Given the description of an element on the screen output the (x, y) to click on. 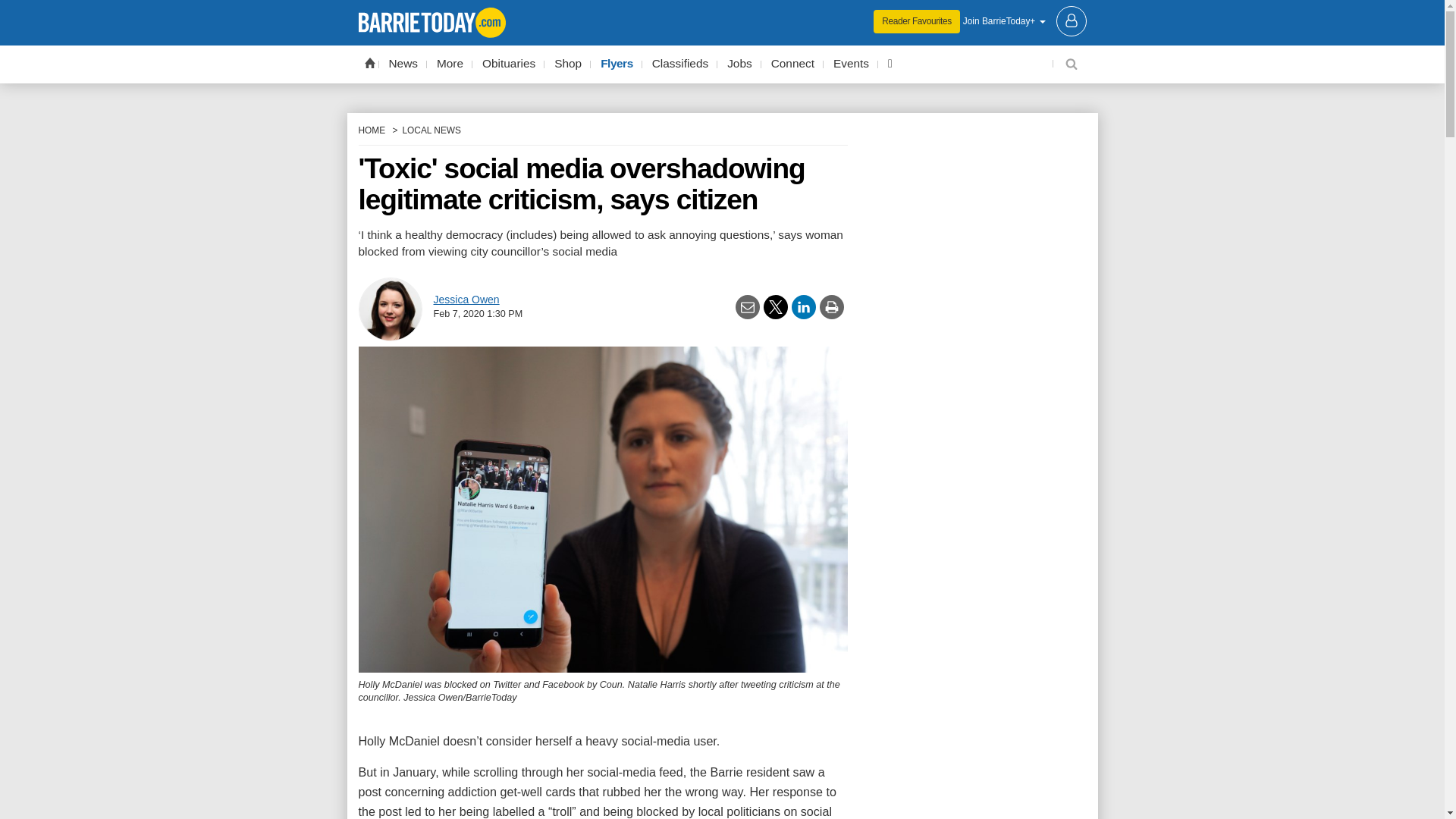
News (403, 64)
Home (368, 62)
Reader Favourites (916, 21)
